Given the description of an element on the screen output the (x, y) to click on. 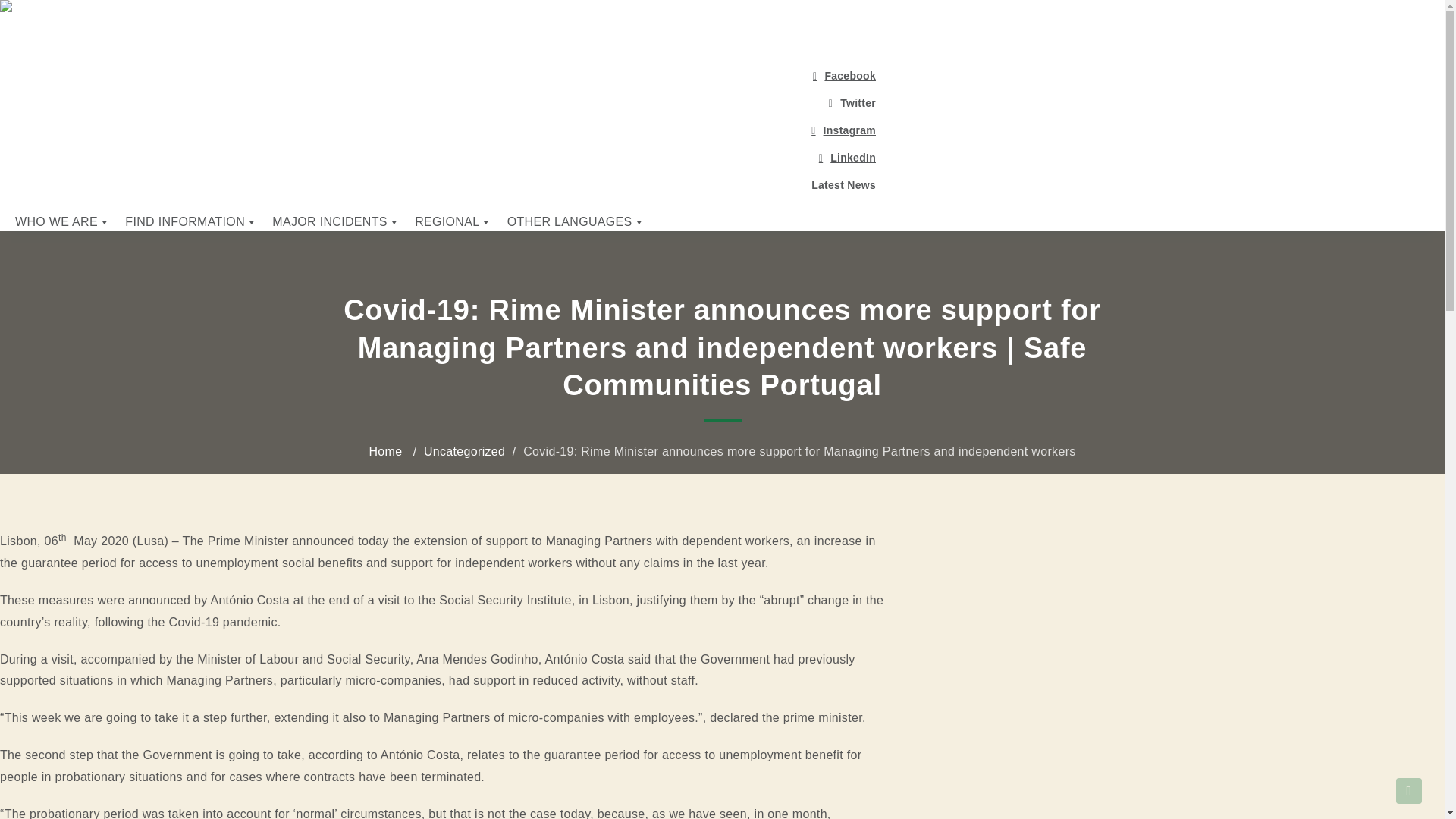
Instagram (445, 130)
Go to  Safe Communities Portugal. (387, 451)
Latest News (445, 185)
LinkedIn (445, 157)
Facebook (445, 75)
FIND INFORMATION (191, 222)
WHO WE ARE (62, 222)
Go to the Uncategorized category archives. (464, 451)
Twitter (445, 103)
